Given the description of an element on the screen output the (x, y) to click on. 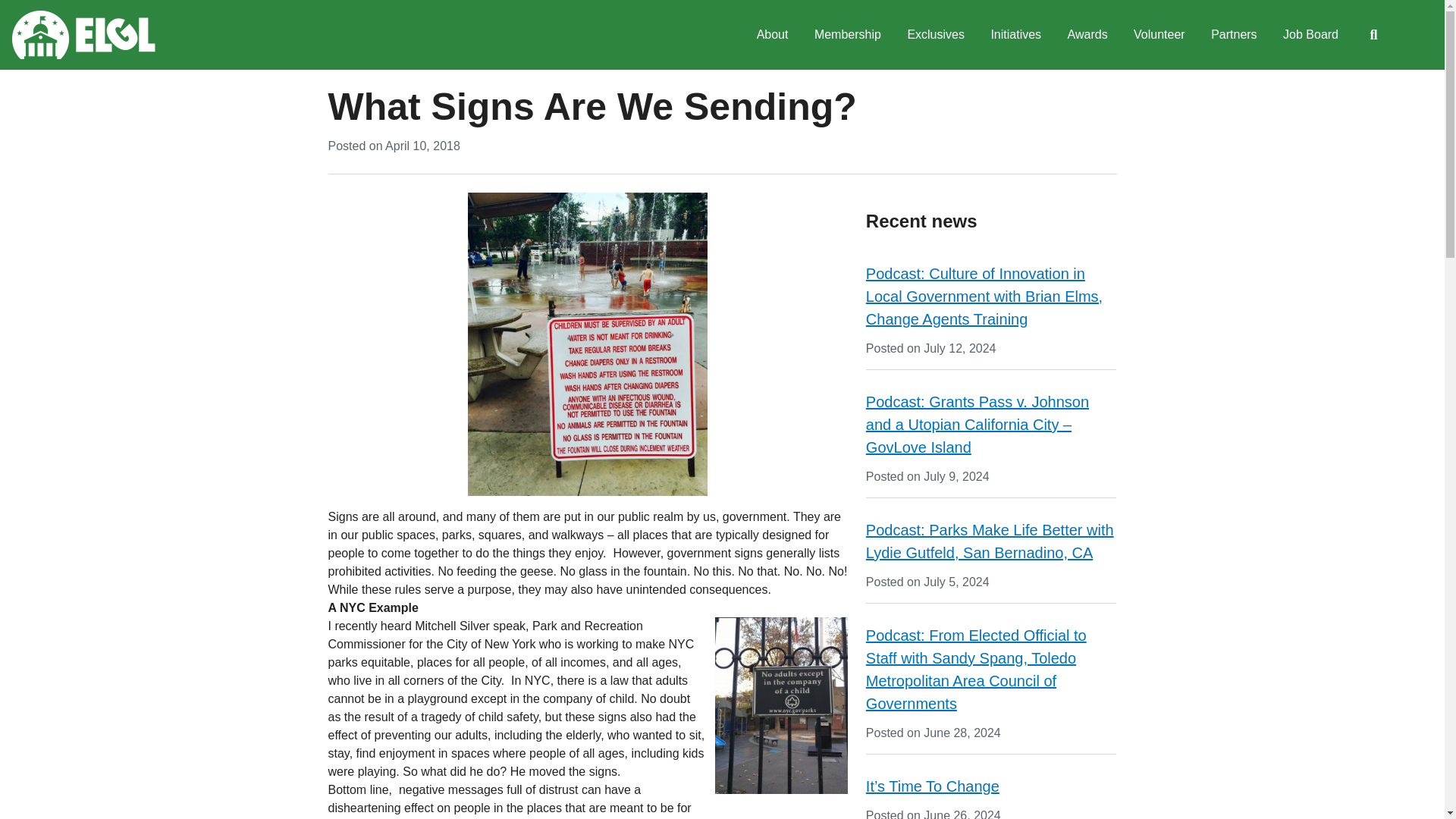
Exclusives (935, 34)
Awards (1088, 34)
About (772, 34)
Partners (1233, 34)
Initiatives (1015, 34)
Home (83, 34)
Volunteer (1159, 34)
Search (1372, 35)
Home (83, 34)
Job Board (1310, 34)
Membership (847, 34)
